Given the description of an element on the screen output the (x, y) to click on. 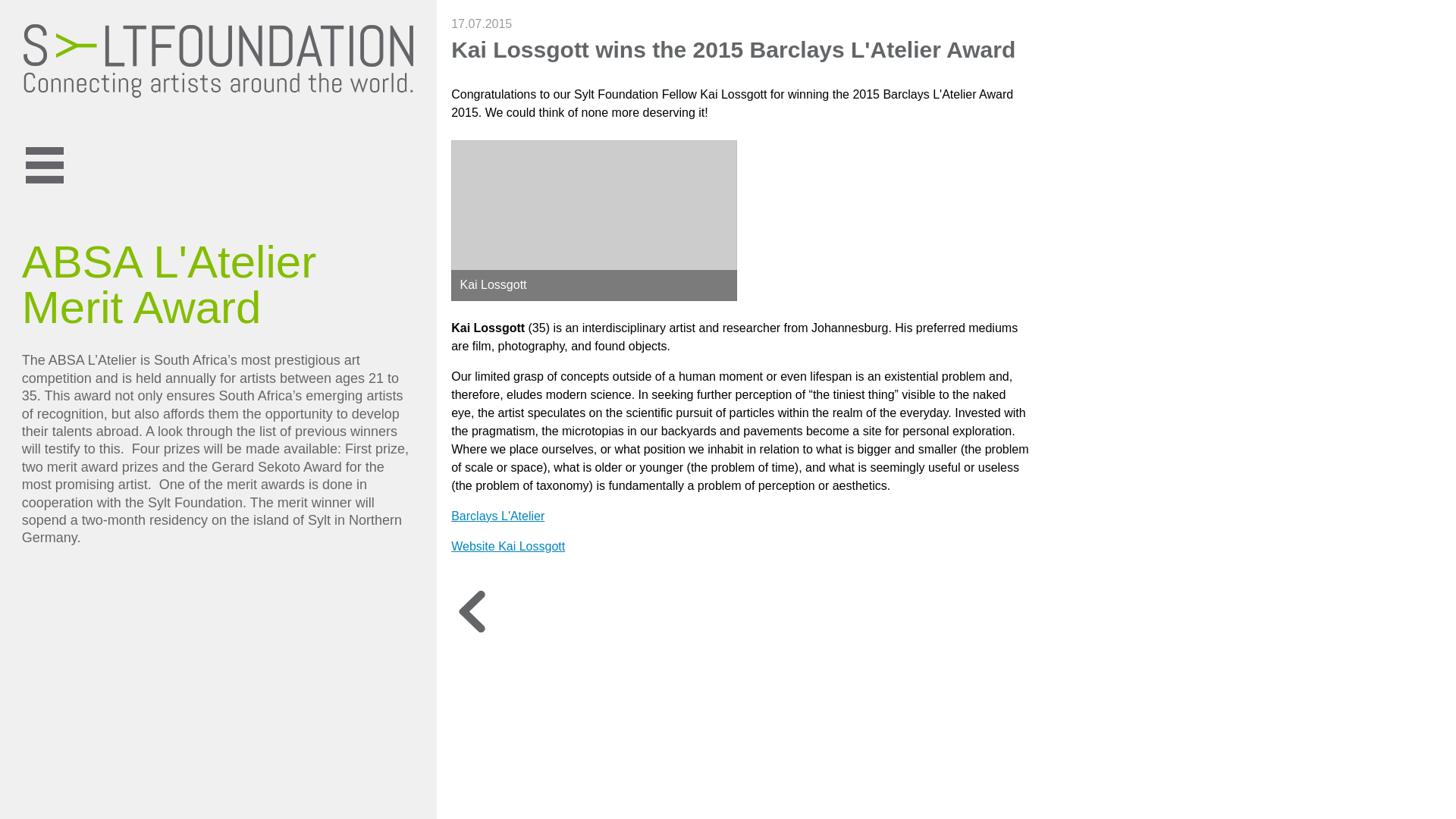
Kai Lossgott wins the 2015 Barclays L'Atelier Award (732, 49)
Barclays L'Atelier (497, 515)
Website Kai Lossgott (507, 545)
